Given the description of an element on the screen output the (x, y) to click on. 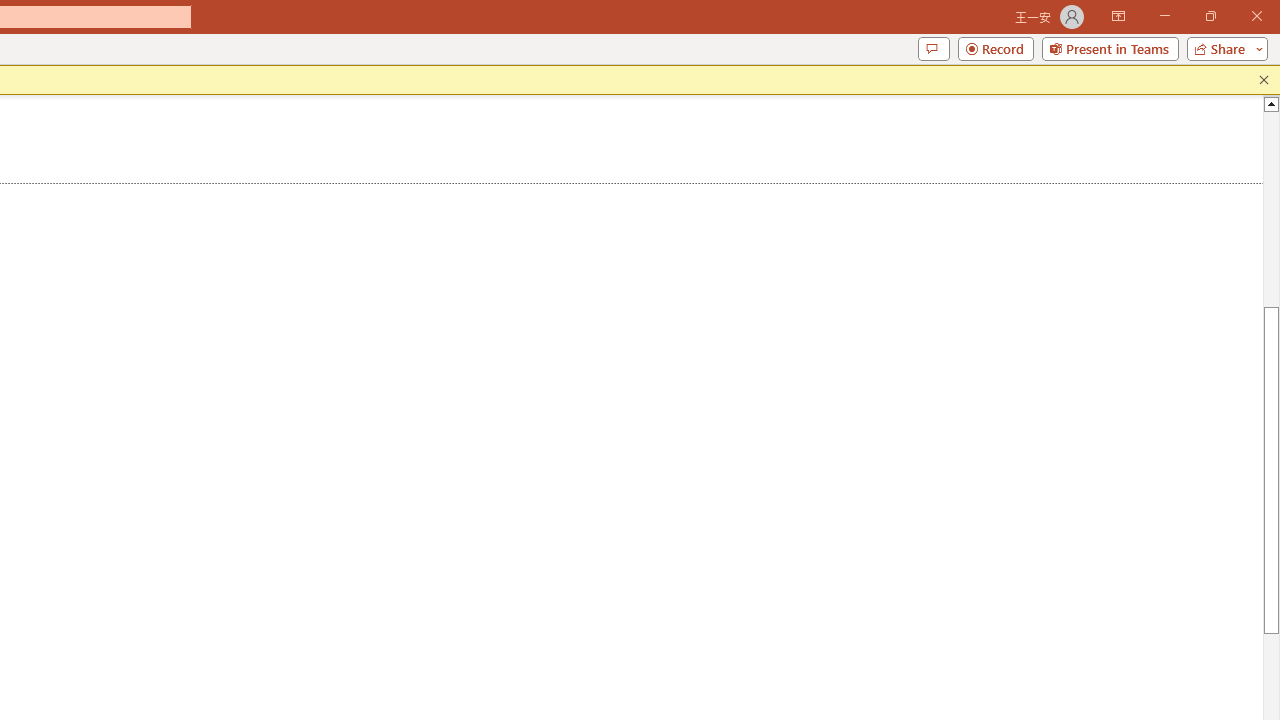
Row up (523, 134)
